Given the description of an element on the screen output the (x, y) to click on. 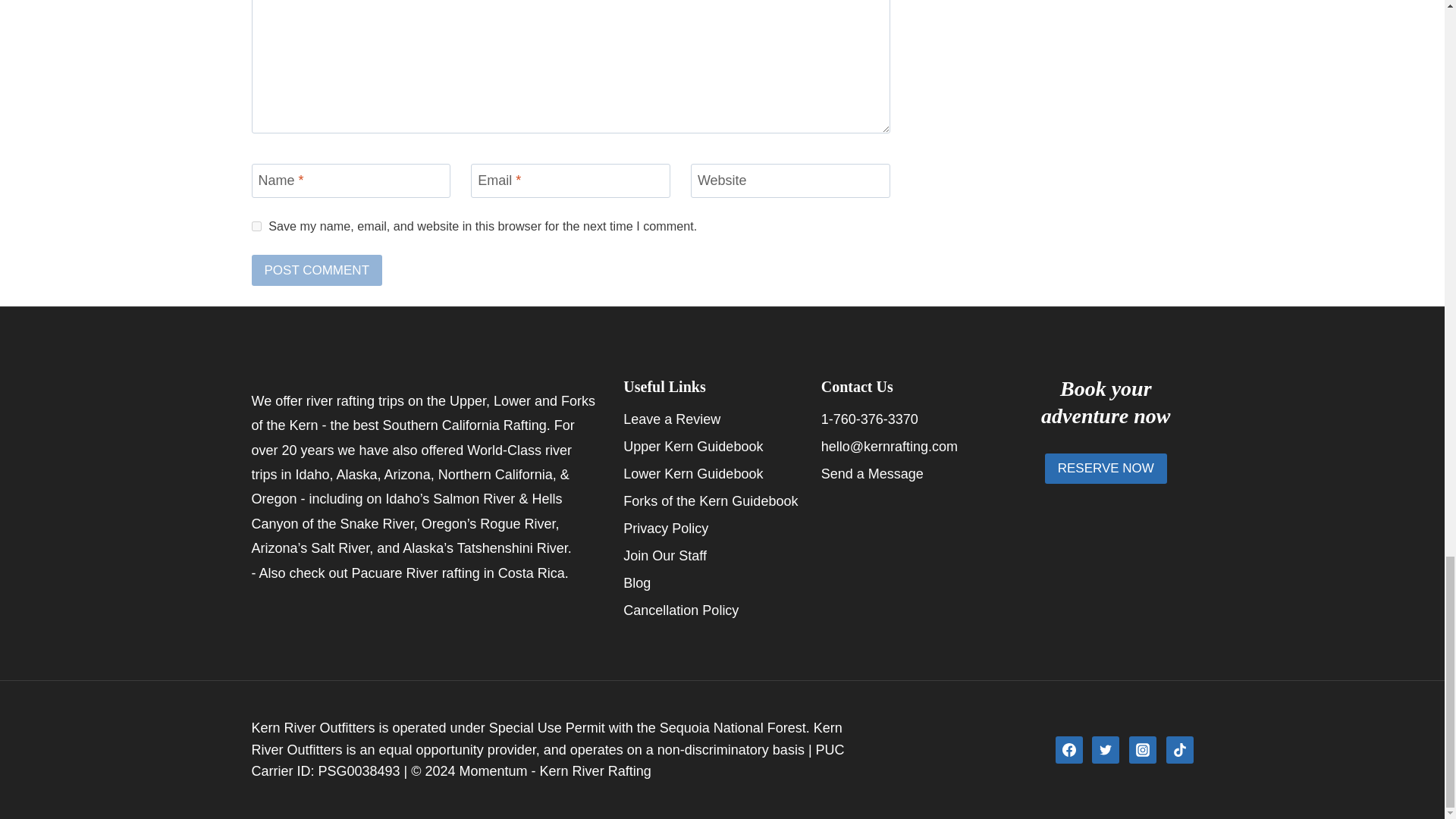
yes (256, 225)
Post Comment (316, 269)
